Given the description of an element on the screen output the (x, y) to click on. 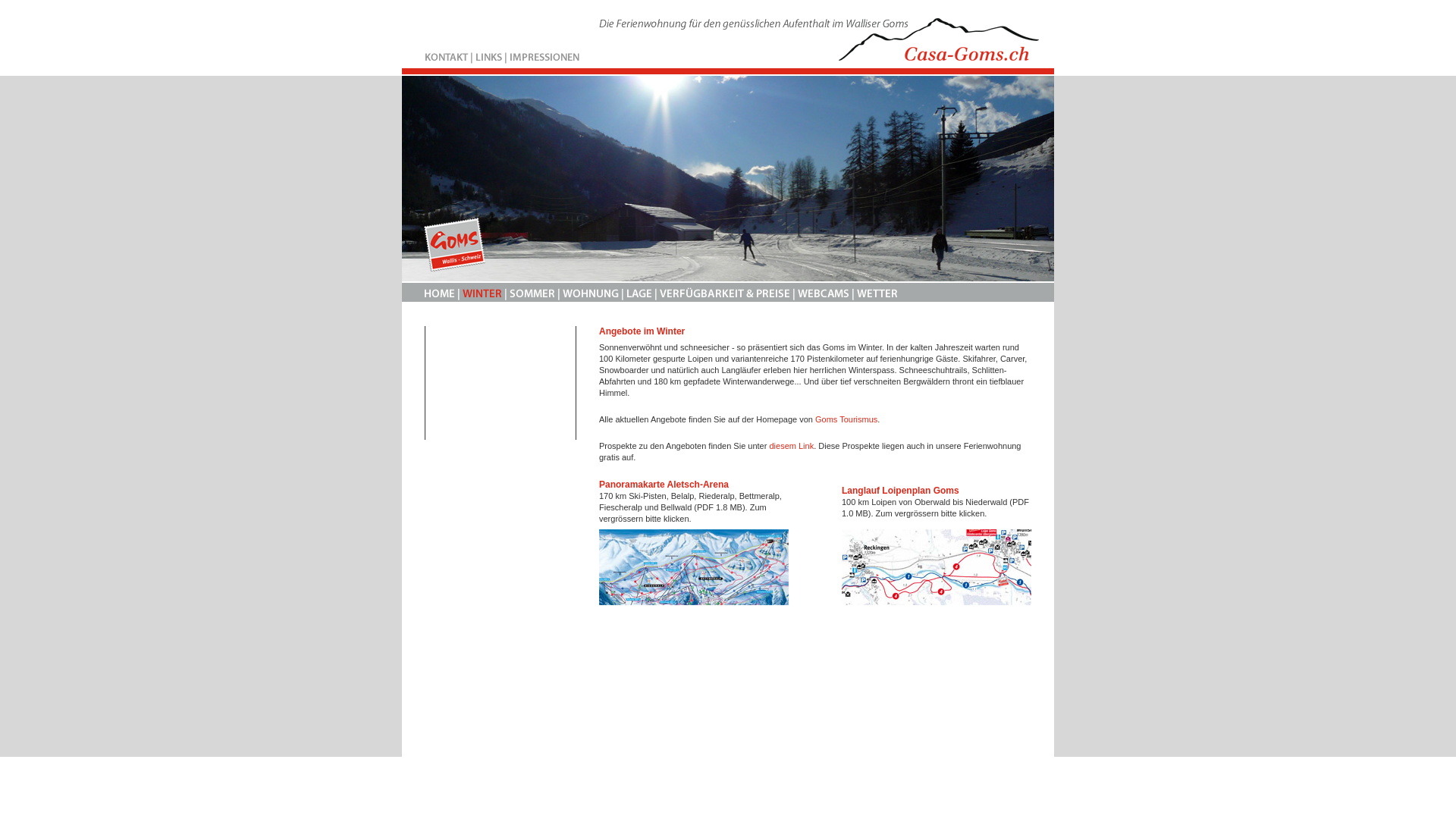
Goms Tourismus Element type: text (846, 418)
diesem Link Element type: text (790, 445)
